Given the description of an element on the screen output the (x, y) to click on. 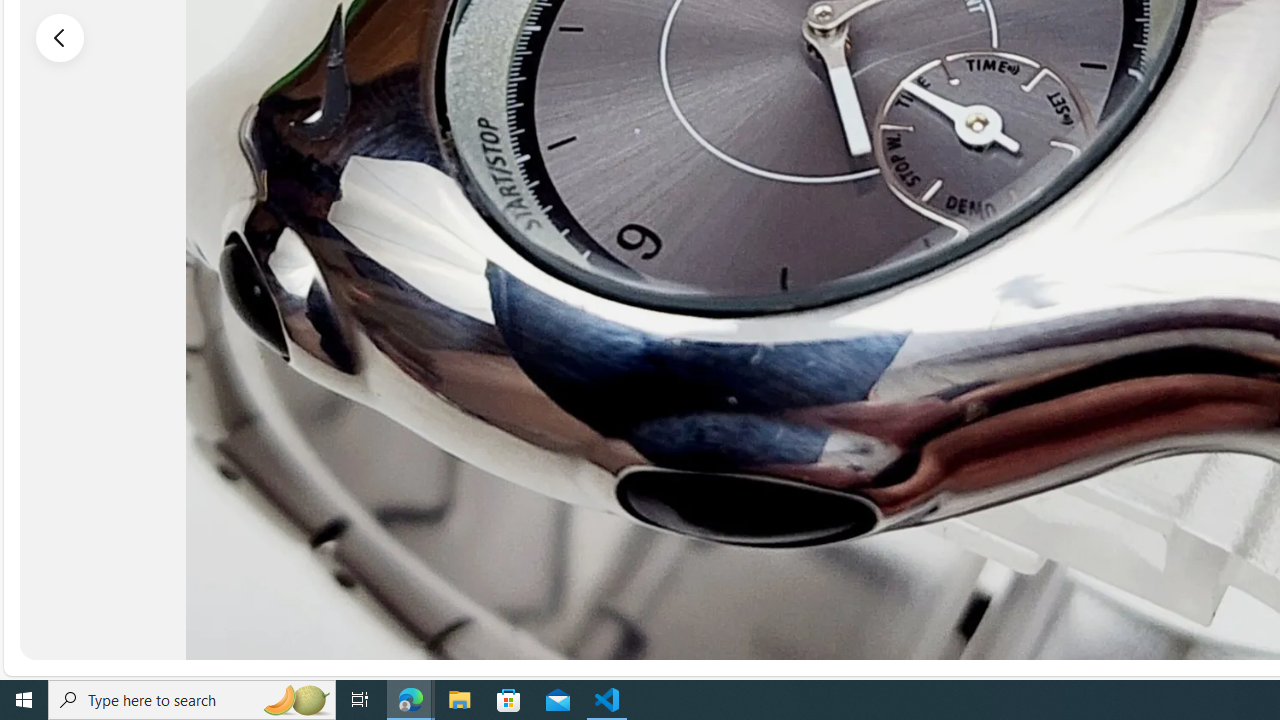
Previous image - Item images thumbnails (59, 37)
